Given the description of an element on the screen output the (x, y) to click on. 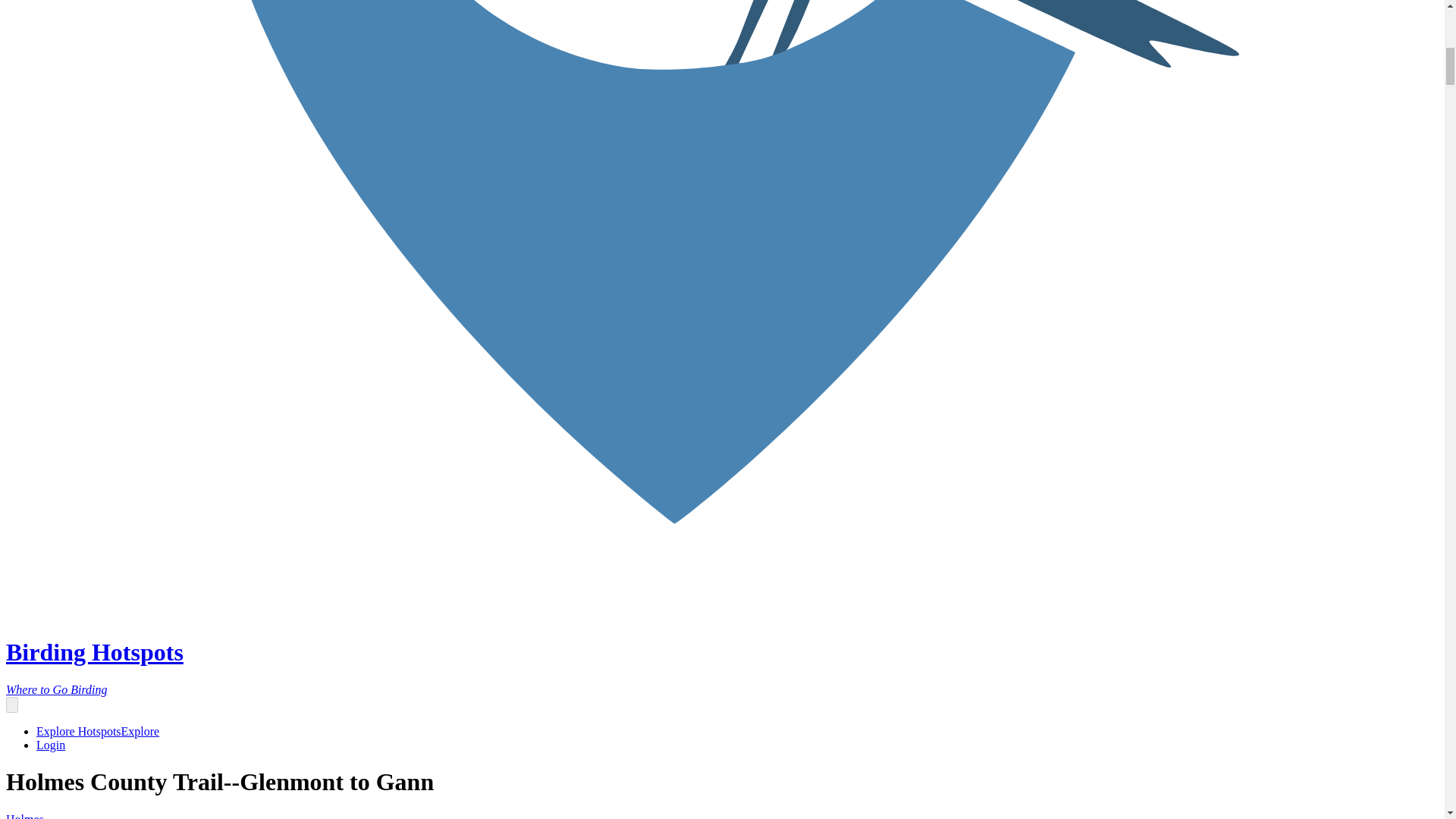
Login (50, 744)
Explore HotspotsExplore (97, 730)
Holmes (24, 816)
